Given the description of an element on the screen output the (x, y) to click on. 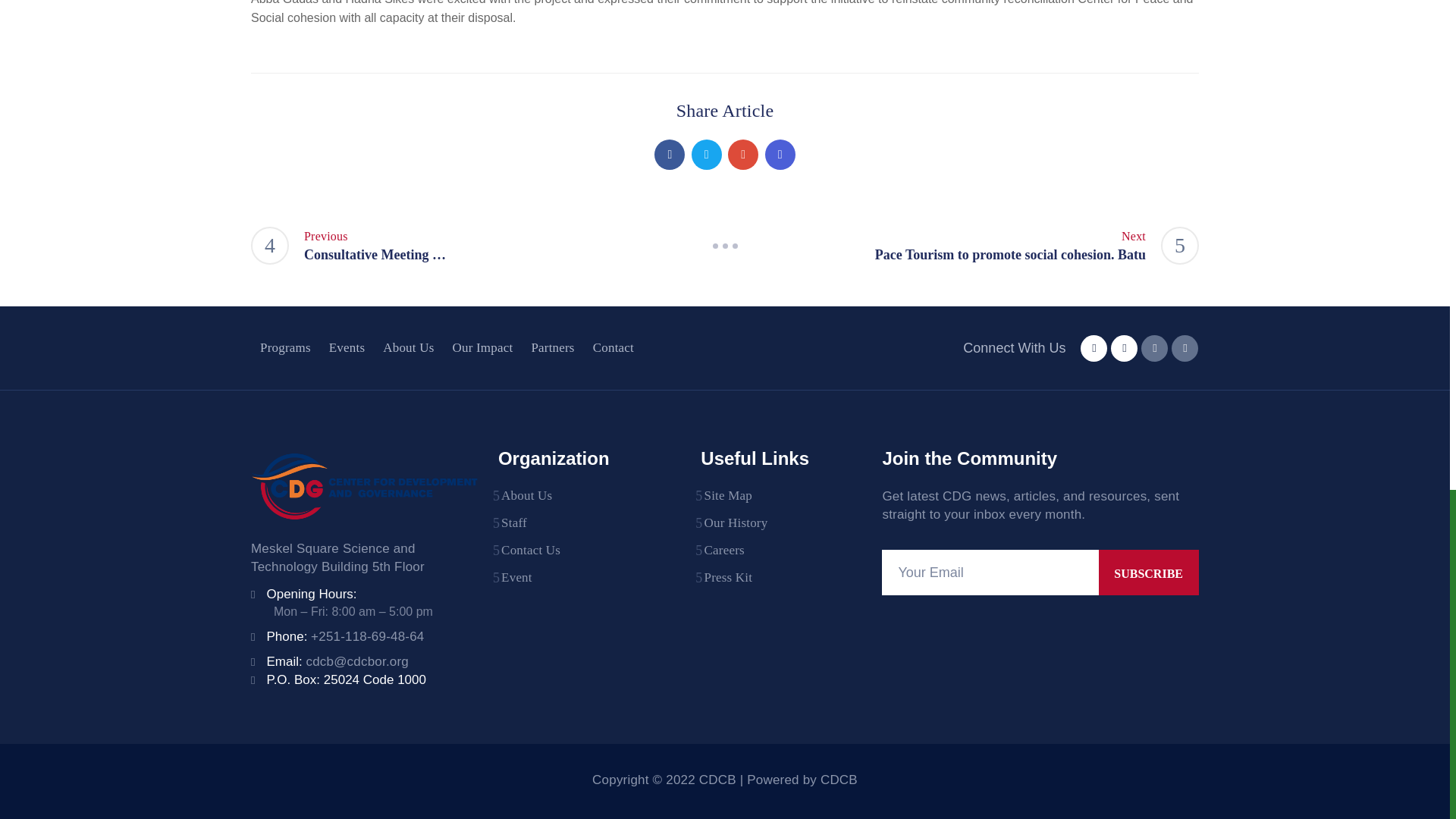
Events (347, 347)
Pinterest (743, 154)
Programs (285, 347)
Slash (725, 245)
Twitter (971, 245)
Facebook (706, 154)
Linkedin (668, 154)
Subscribe (779, 154)
About Us (1148, 572)
